Given the description of an element on the screen output the (x, y) to click on. 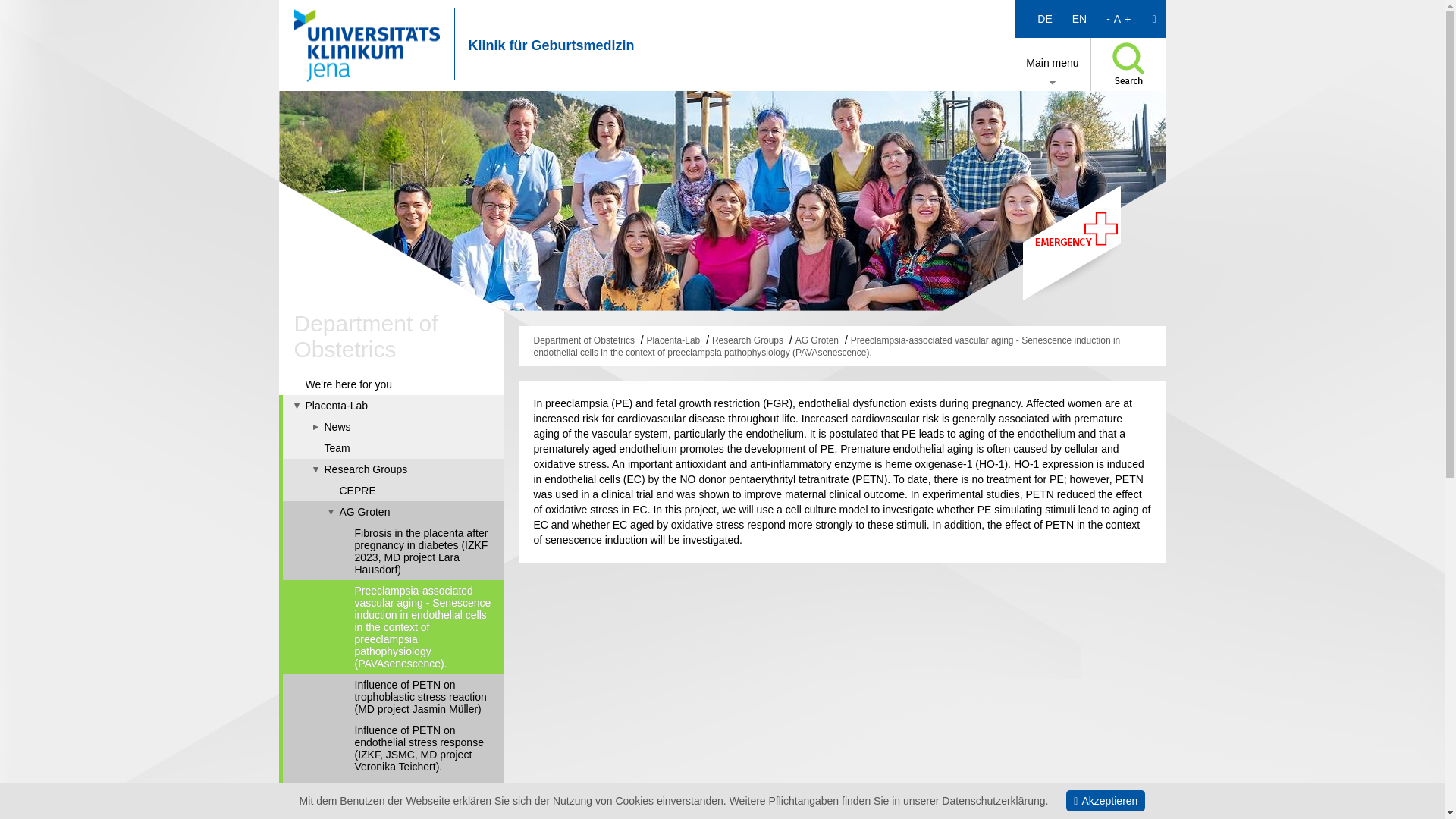
DE (1044, 18)
EN (1079, 18)
